Given the description of an element on the screen output the (x, y) to click on. 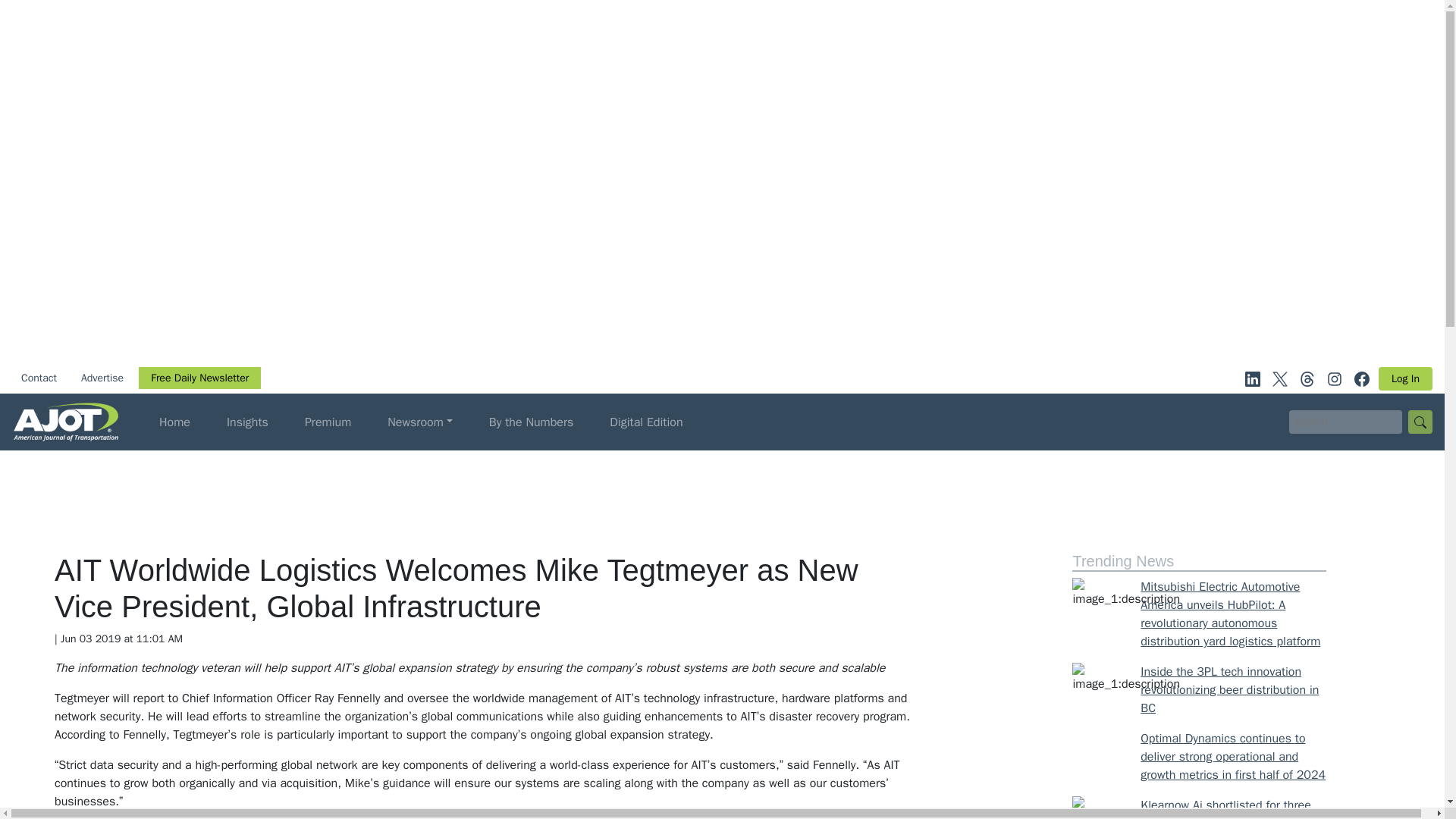
Contact (38, 377)
Advertise (101, 377)
Newsroom (419, 422)
By the Numbers (531, 422)
Insights (248, 422)
Log In (1405, 378)
Premium (327, 422)
Digital Edition (646, 422)
Free Daily Newsletter (199, 377)
Home (174, 422)
